Given the description of an element on the screen output the (x, y) to click on. 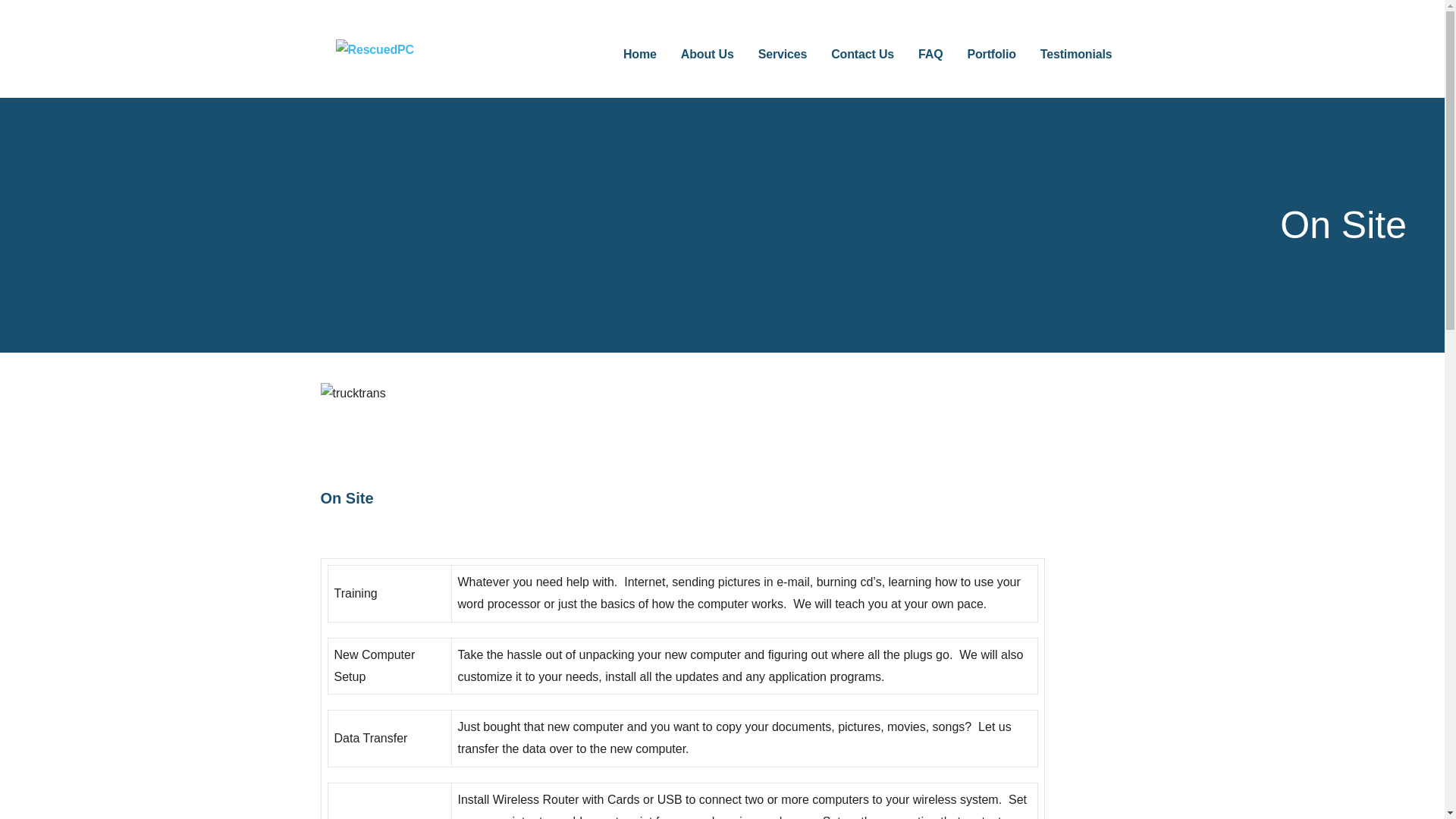
About Us (707, 55)
Portfolio (990, 55)
Contact Us (862, 55)
Services (783, 55)
trucktrans (433, 435)
Home (639, 55)
RescuedPC (407, 74)
Testimonials (1076, 55)
